Given the description of an element on the screen output the (x, y) to click on. 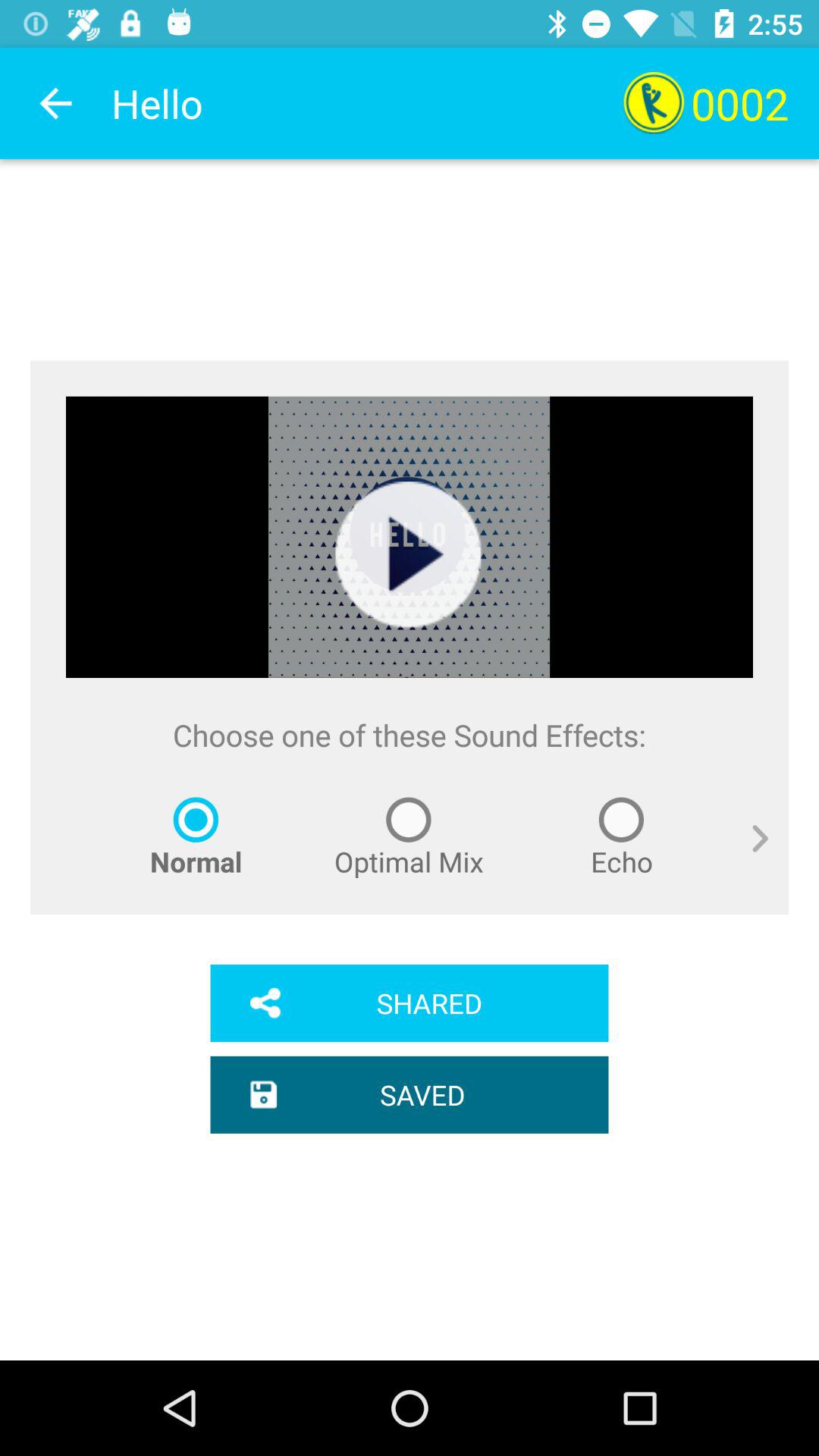
tap item next to stage (748, 855)
